Given the description of an element on the screen output the (x, y) to click on. 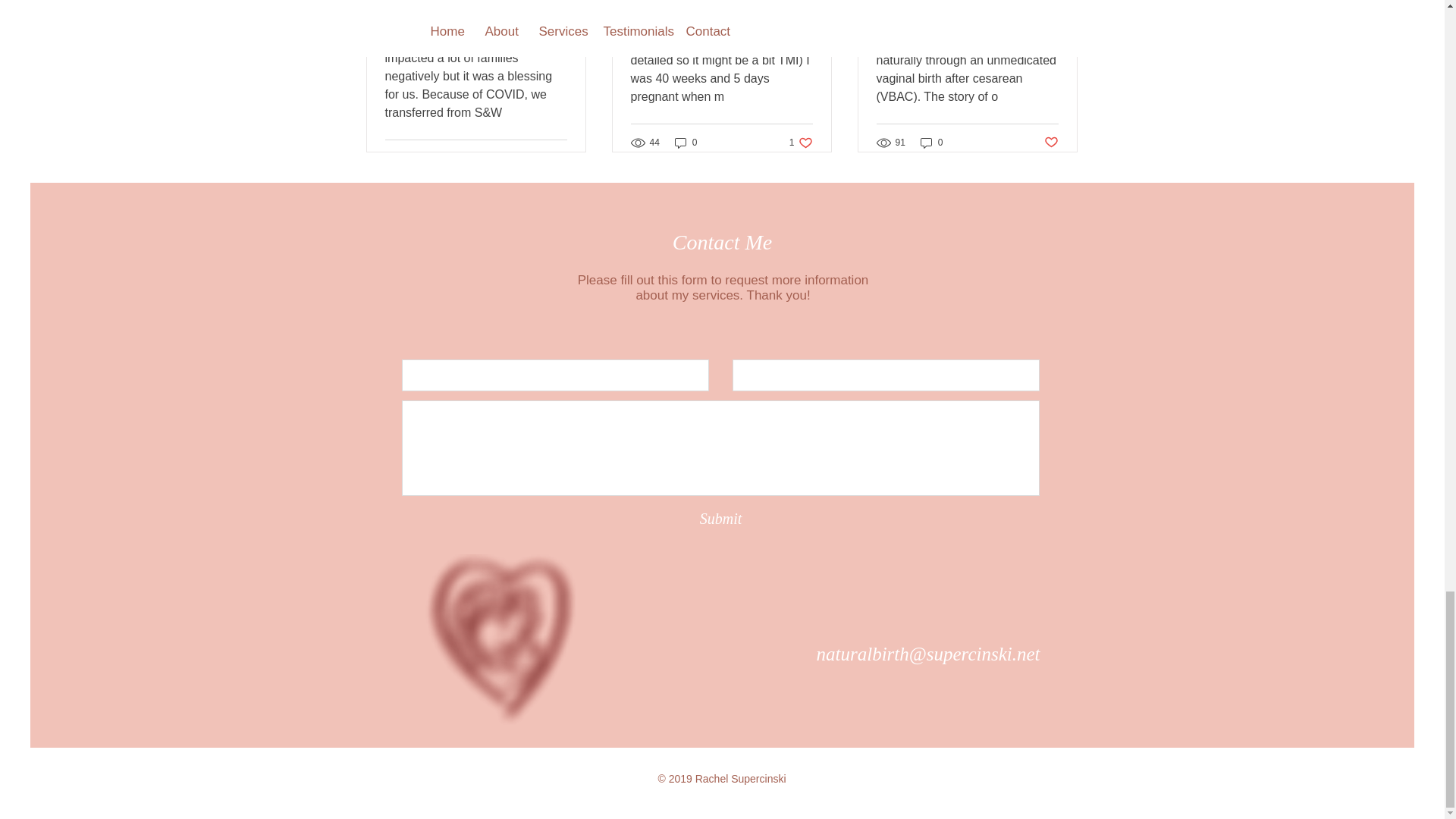
Post not marked as liked (558, 158)
Post not marked as liked (1050, 141)
Submit (800, 142)
0 (720, 518)
0 (931, 142)
